Given the description of an element on the screen output the (x, y) to click on. 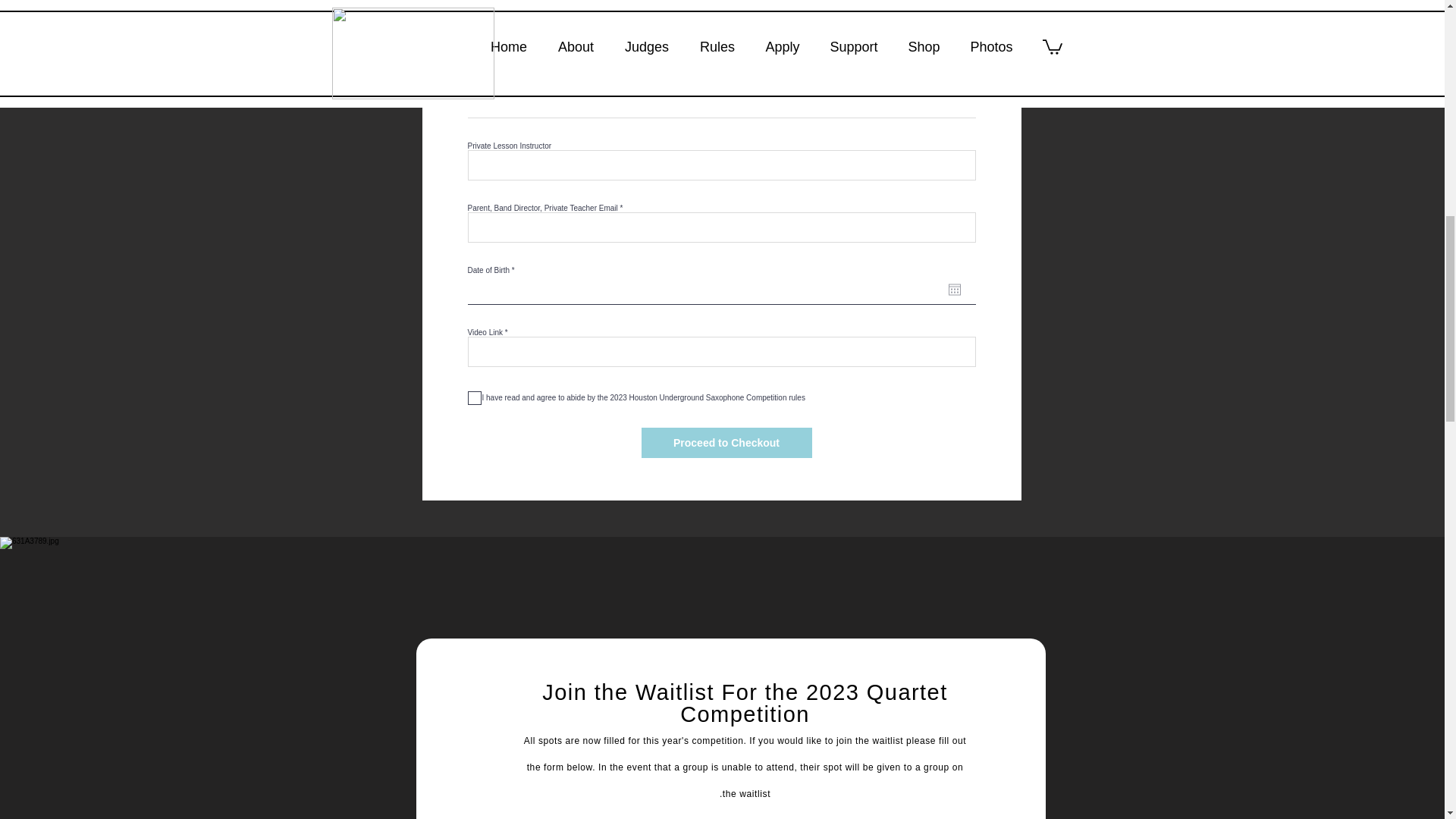
Proceed to Checkout (727, 442)
